Given the description of an element on the screen output the (x, y) to click on. 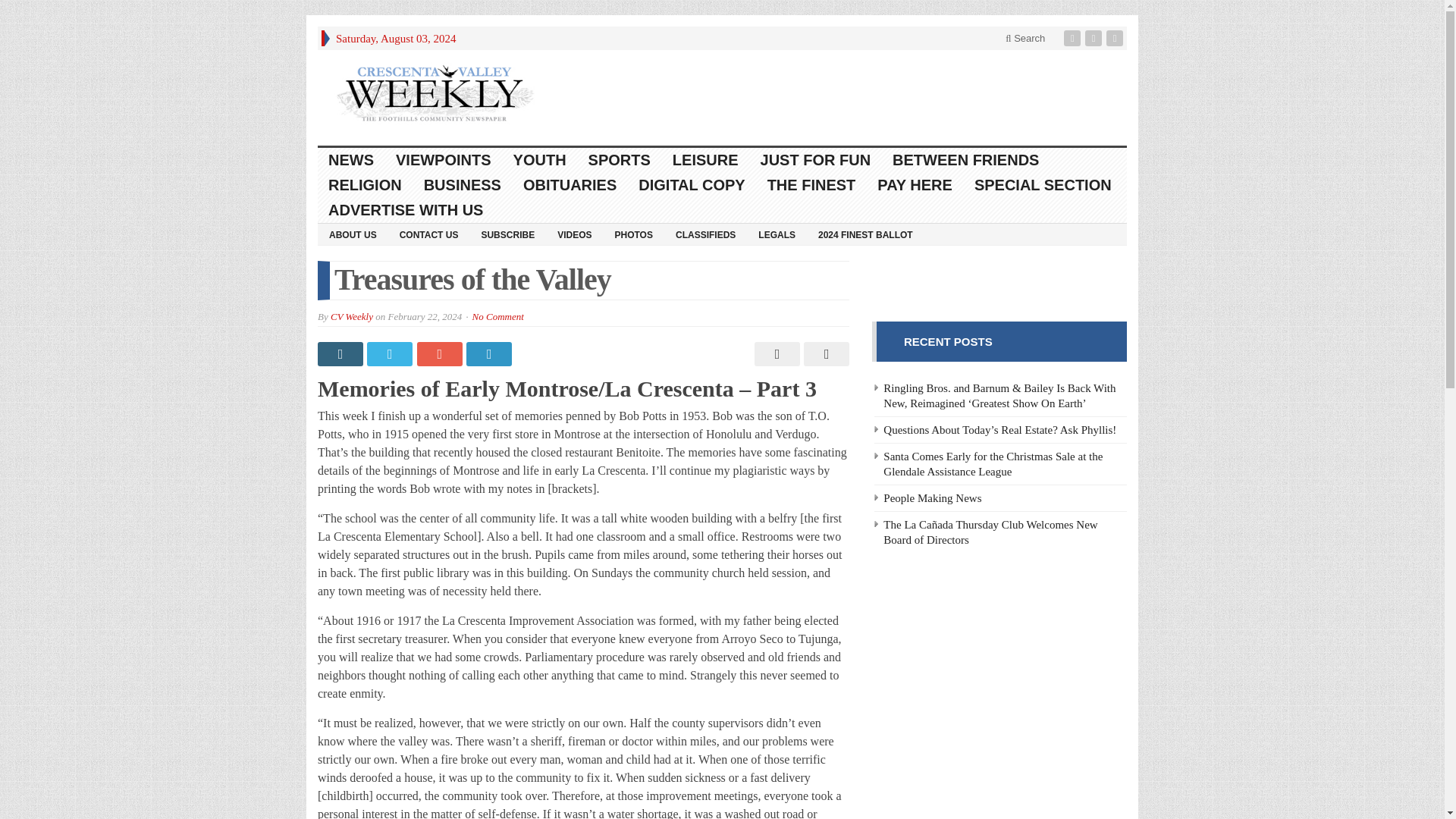
JUST FOR FUN (815, 160)
Facebook (1073, 37)
YOUTH (540, 160)
Site feed (1115, 37)
SPECIAL SECTION (1042, 185)
BETWEEN FRIENDS (965, 160)
CONTACT US (429, 233)
LEISURE (705, 160)
OBITUARIES (569, 185)
RELIGION (365, 185)
